Given the description of an element on the screen output the (x, y) to click on. 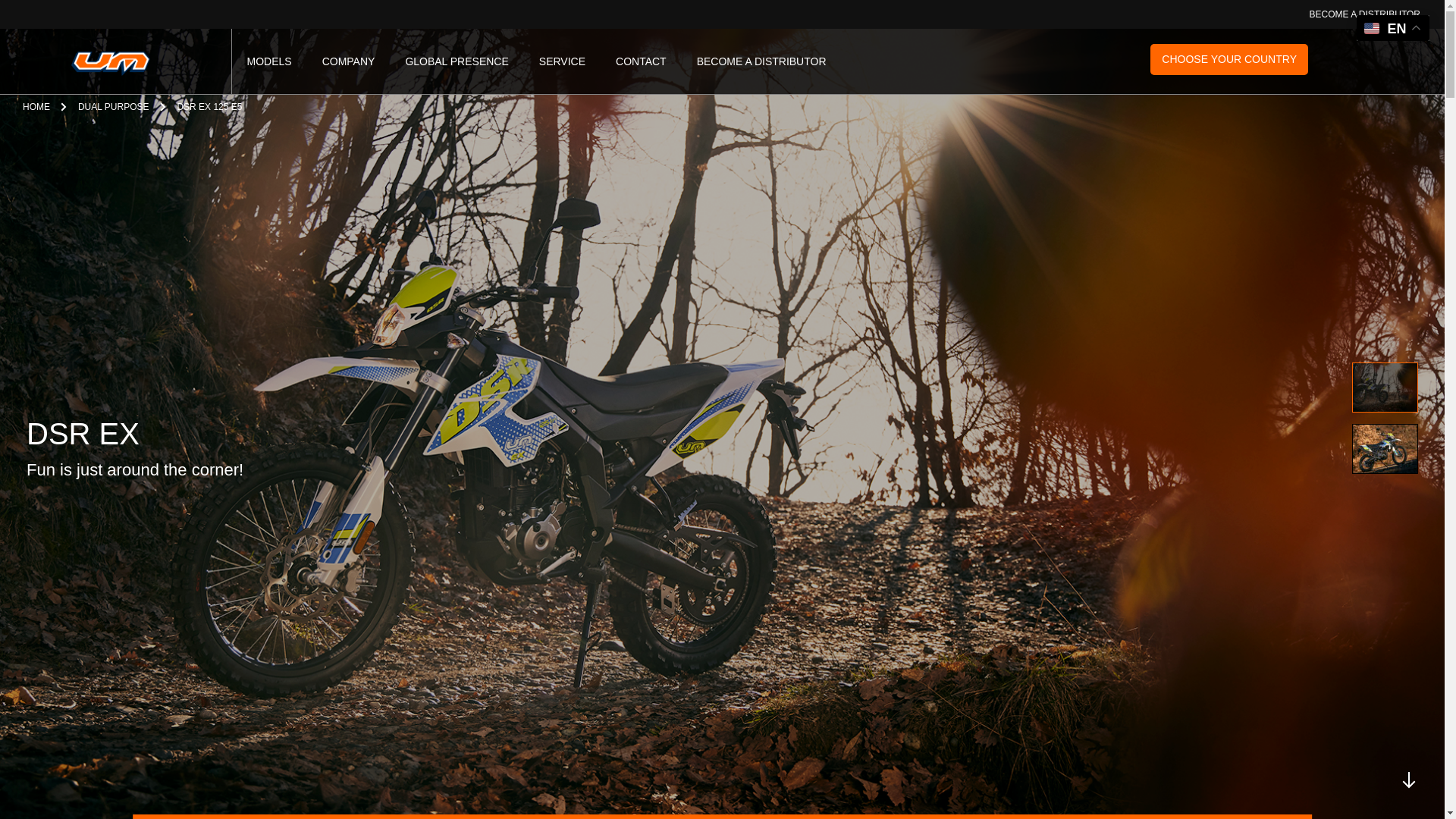
CONTACT (640, 60)
BECOME A DISTRIBUTOR (1364, 14)
BECOME A DISTRIBUTOR (762, 60)
SERVICE (561, 60)
MODELS (269, 60)
COMPANY (348, 60)
GLOBAL PRESENCE (456, 60)
